Given the description of an element on the screen output the (x, y) to click on. 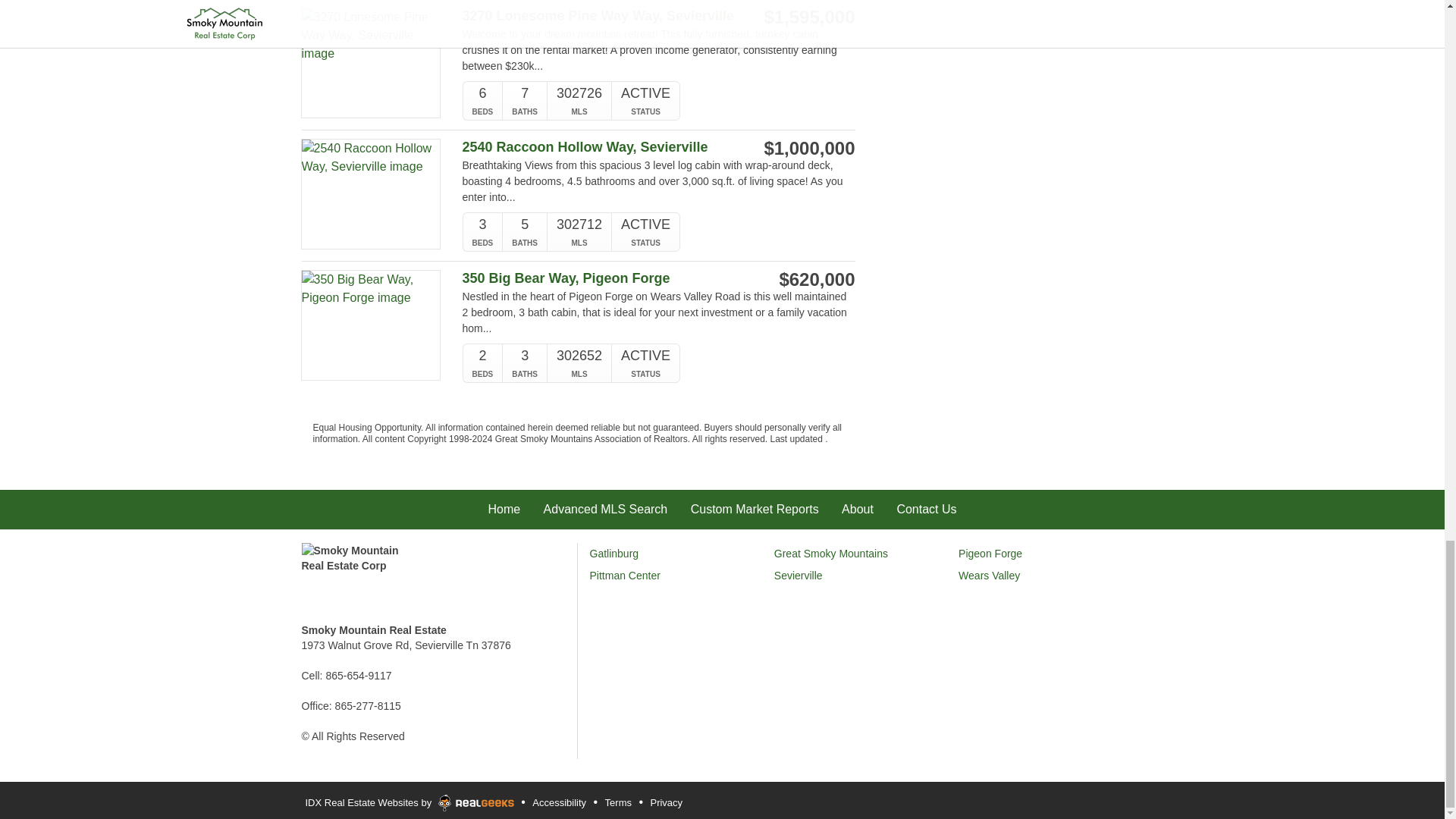
350 Big Bear Way, Pigeon Forge (600, 278)
2540 Raccoon Hollow Way, Sevierville (600, 147)
3270 Lonesome Pine Way Way, Sevierville (600, 16)
